Given the description of an element on the screen output the (x, y) to click on. 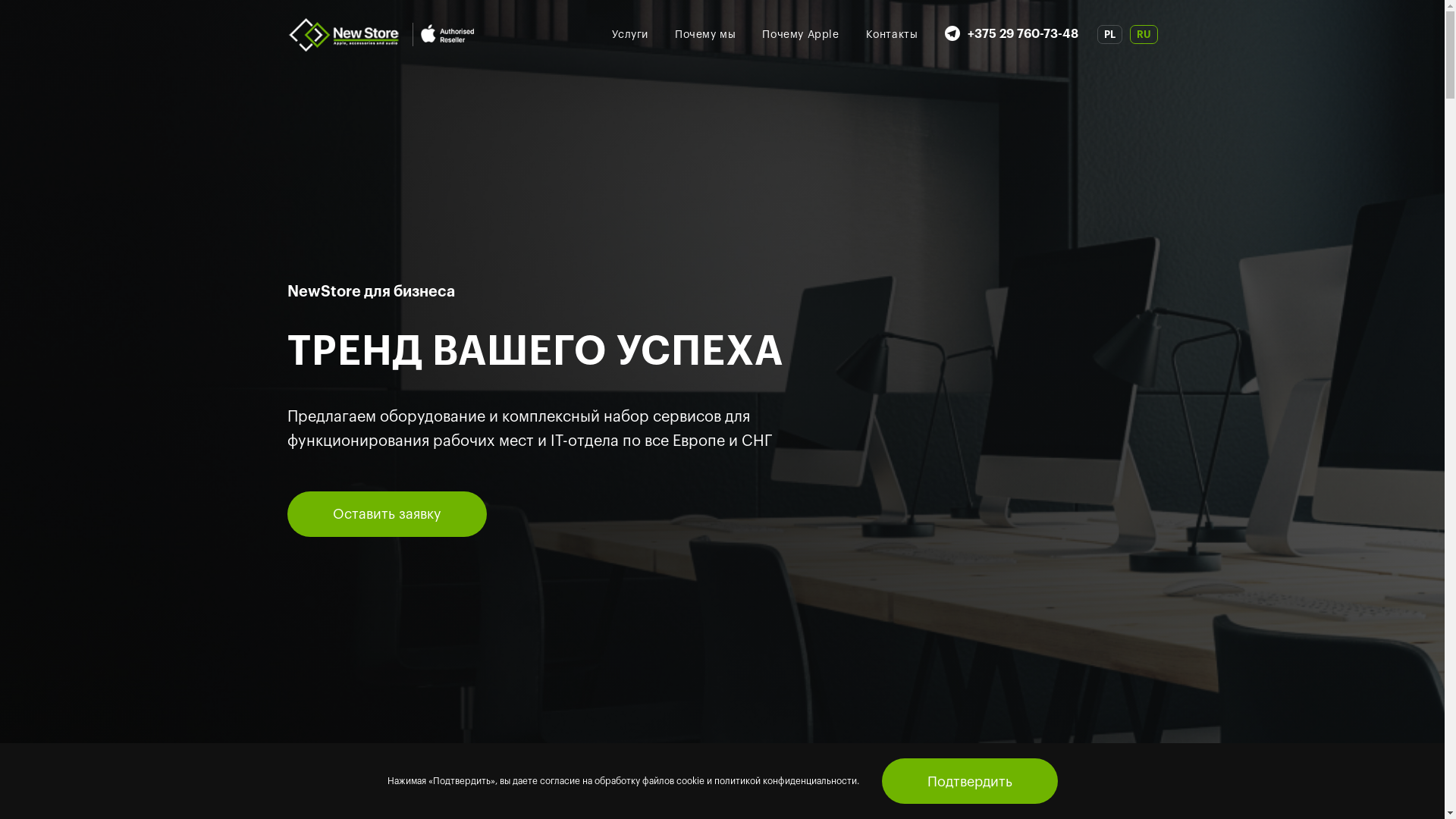
+375 29 760-73-48 Element type: text (1022, 34)
PL Element type: text (1108, 33)
